Given the description of an element on the screen output the (x, y) to click on. 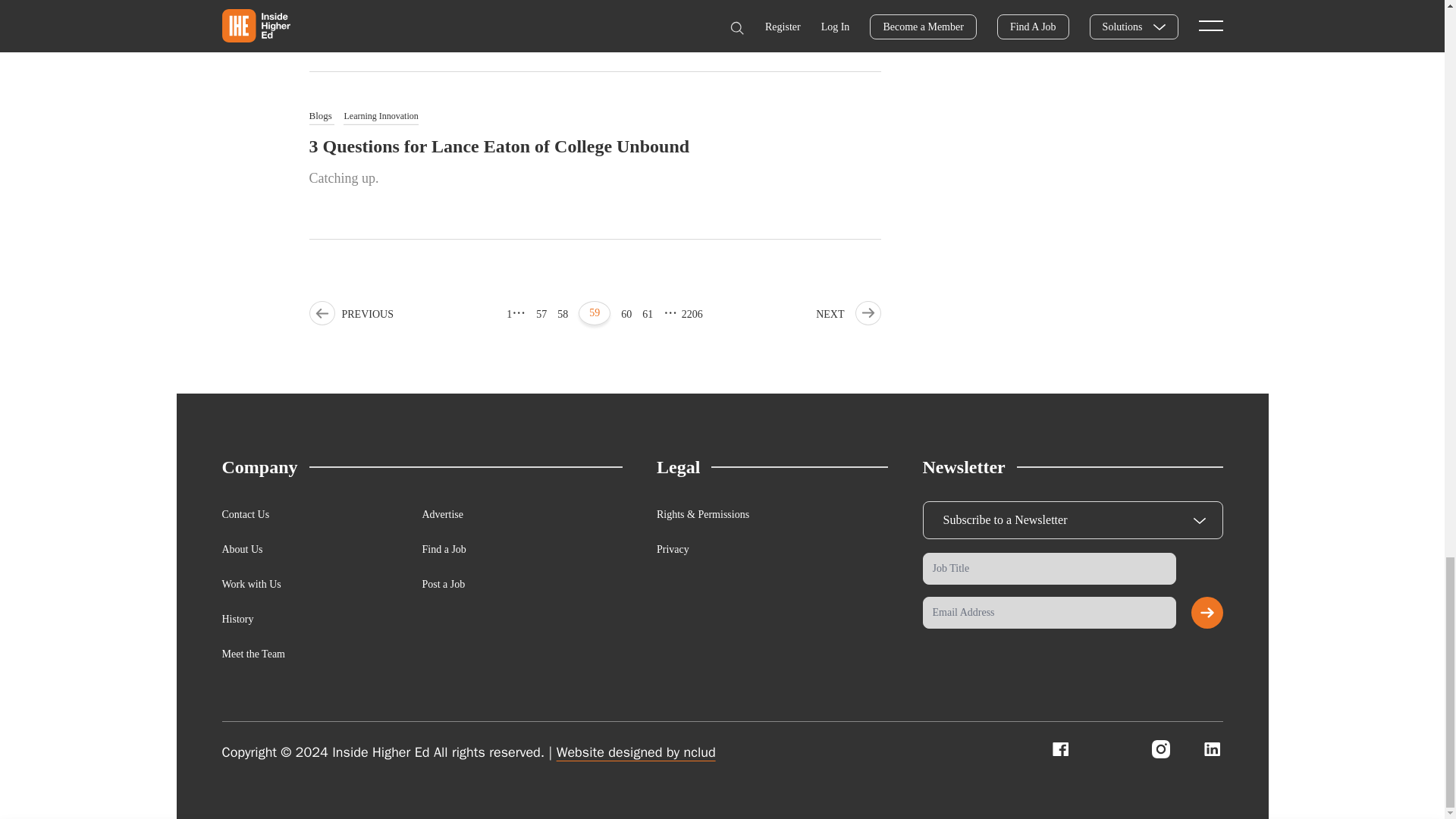
Go to previous page (350, 314)
Submit (1207, 612)
Go to page 57 (541, 314)
